Given the description of an element on the screen output the (x, y) to click on. 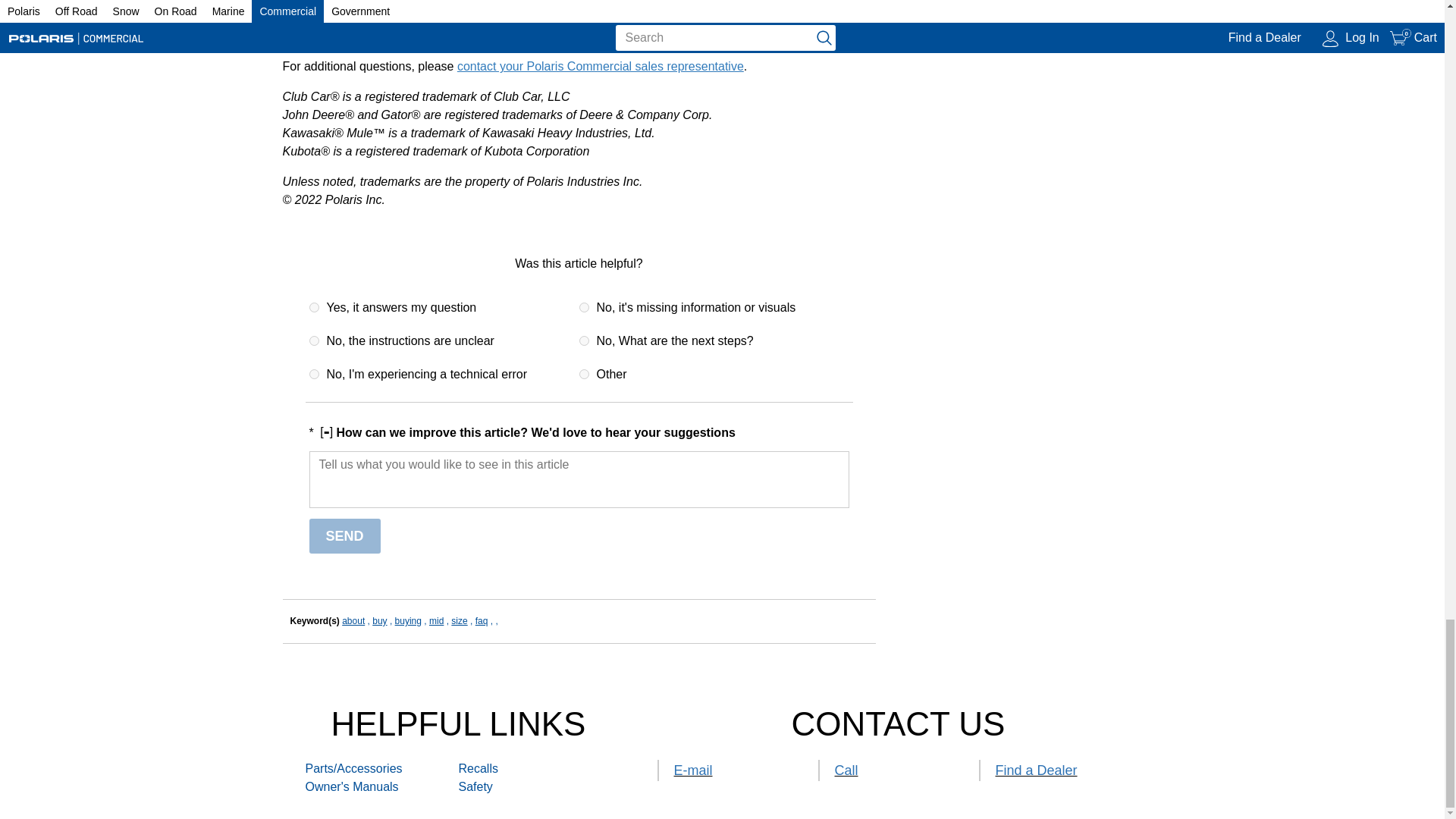
No. The instructions are unclear (313, 340)
Yes. It answers my question (313, 307)
No. It is missing information or visuals (584, 307)
No. I am experiencing a technical error (313, 374)
No. What are the next steps? (584, 340)
Other (584, 374)
